Given the description of an element on the screen output the (x, y) to click on. 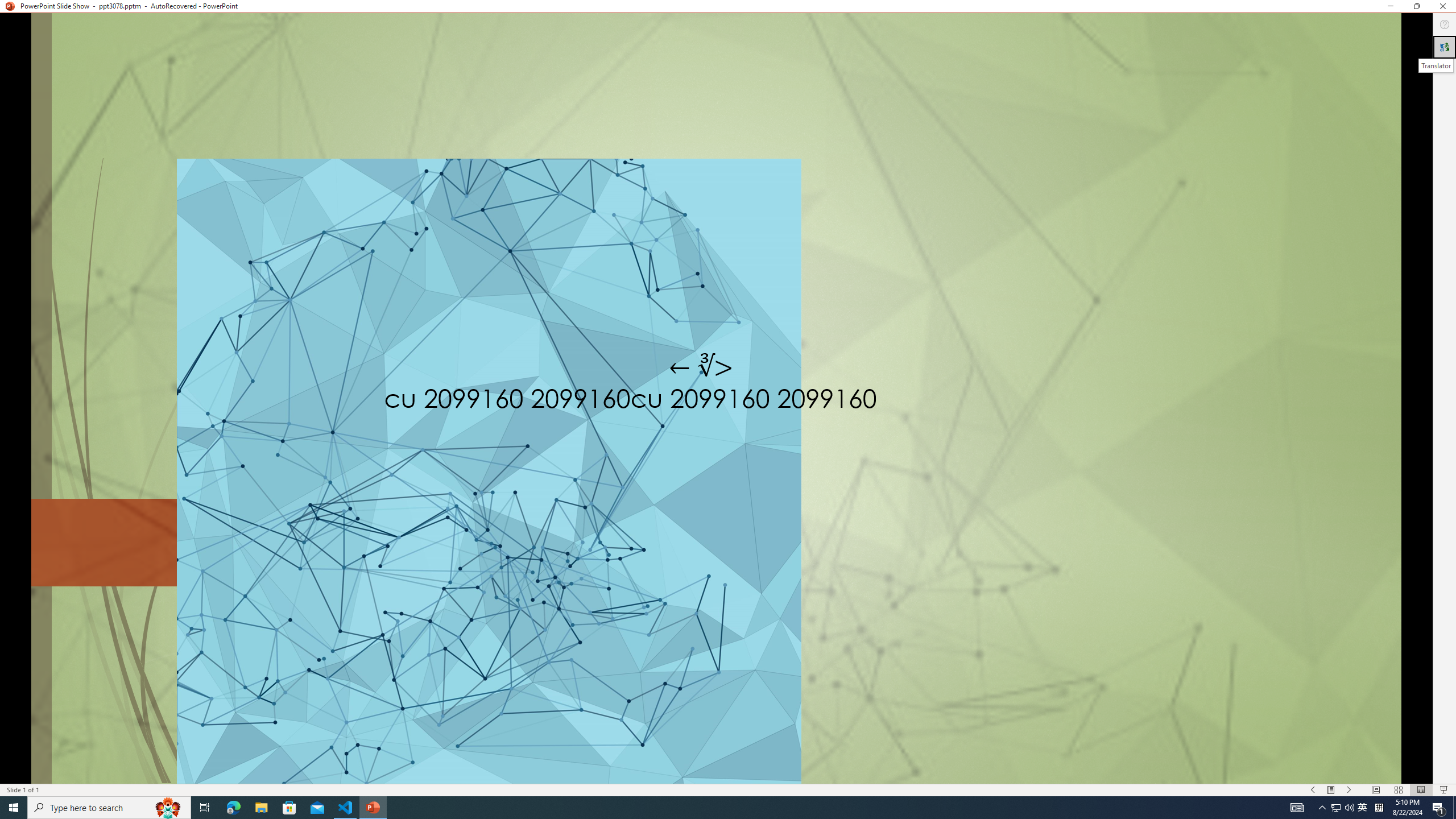
Menu On (1331, 790)
Translator (1435, 65)
Slide Show Next On (1349, 790)
Class: MsoCommandBar (728, 789)
Translator (1444, 47)
Slide Show Previous On (1313, 790)
